Given the description of an element on the screen output the (x, y) to click on. 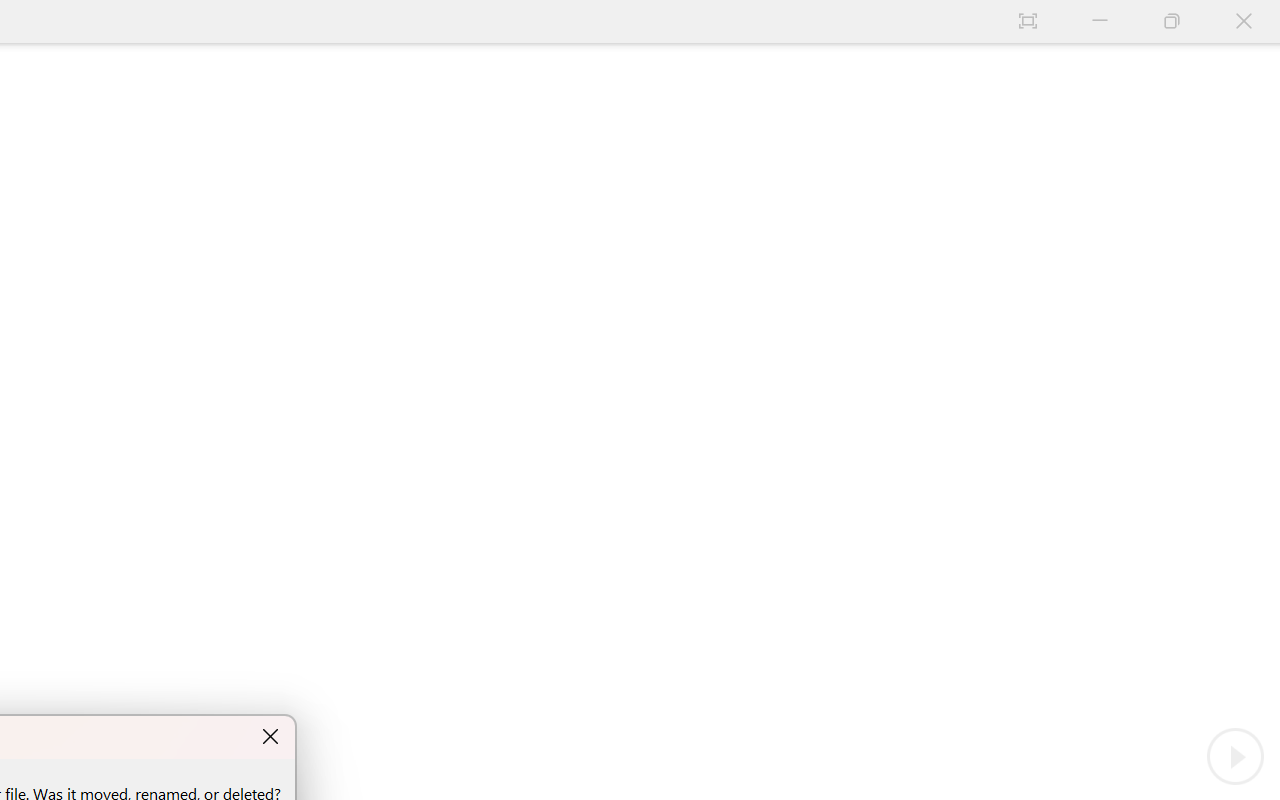
Ribbon Display Options (1118, 18)
Comments (933, 54)
Search (864, 266)
Comments (1260, 245)
Home (826, 266)
Designer (1260, 290)
Previous page (801, 266)
Search (1049, 264)
Present in Teams (1109, 54)
Task Pane Options (1183, 209)
Close pane (1215, 209)
Share (1223, 54)
Help (1260, 378)
Restore Down (1210, 18)
